Given the description of an element on the screen output the (x, y) to click on. 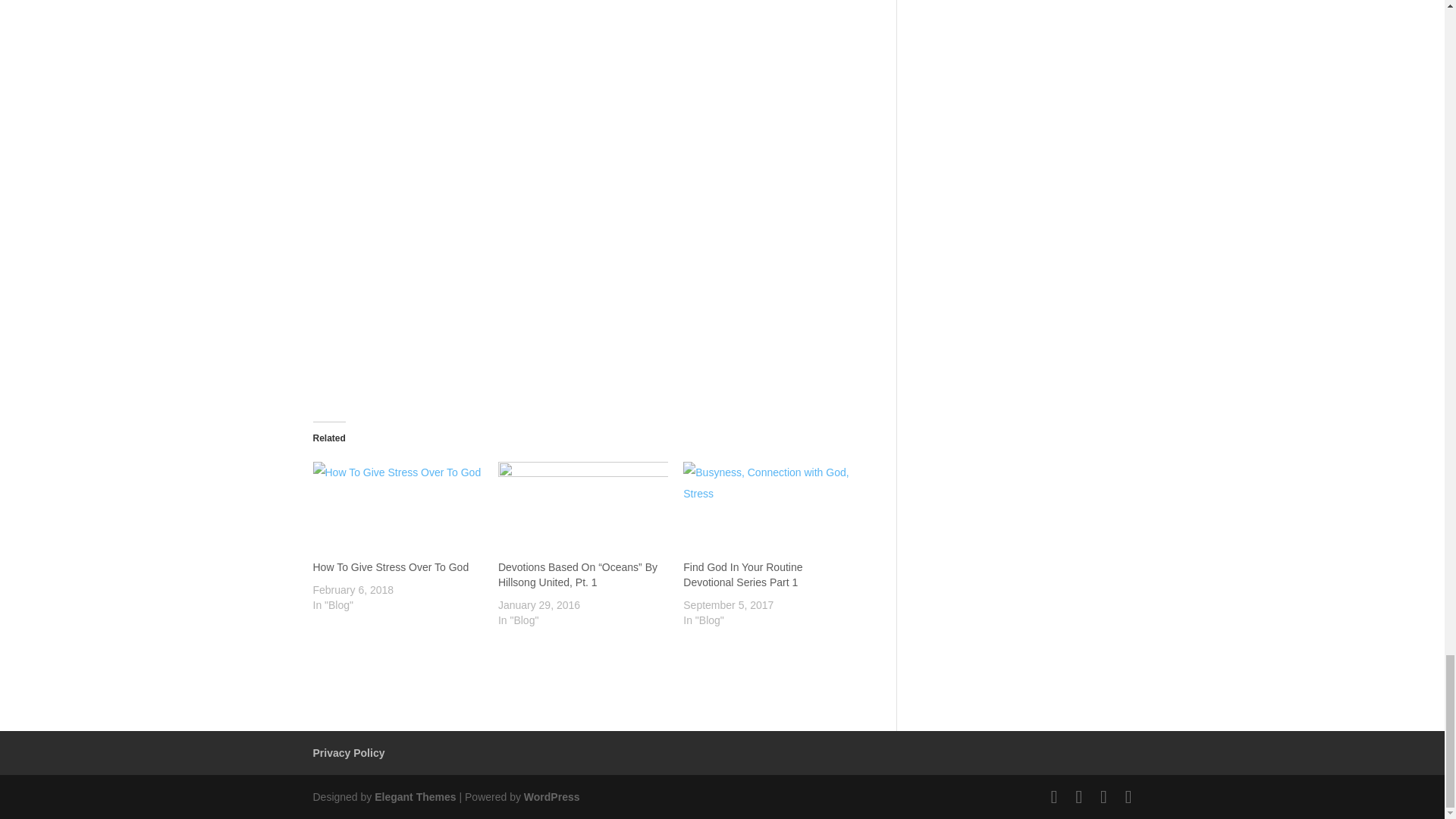
Find God In Your Routine Devotional Series Part 1 (742, 574)
How To Give Stress Over To God (390, 567)
How To Give Stress Over To God (397, 509)
Find God In Your Routine Devotional Series Part 1 (767, 509)
Premium WordPress Themes (414, 797)
